Given the description of an element on the screen output the (x, y) to click on. 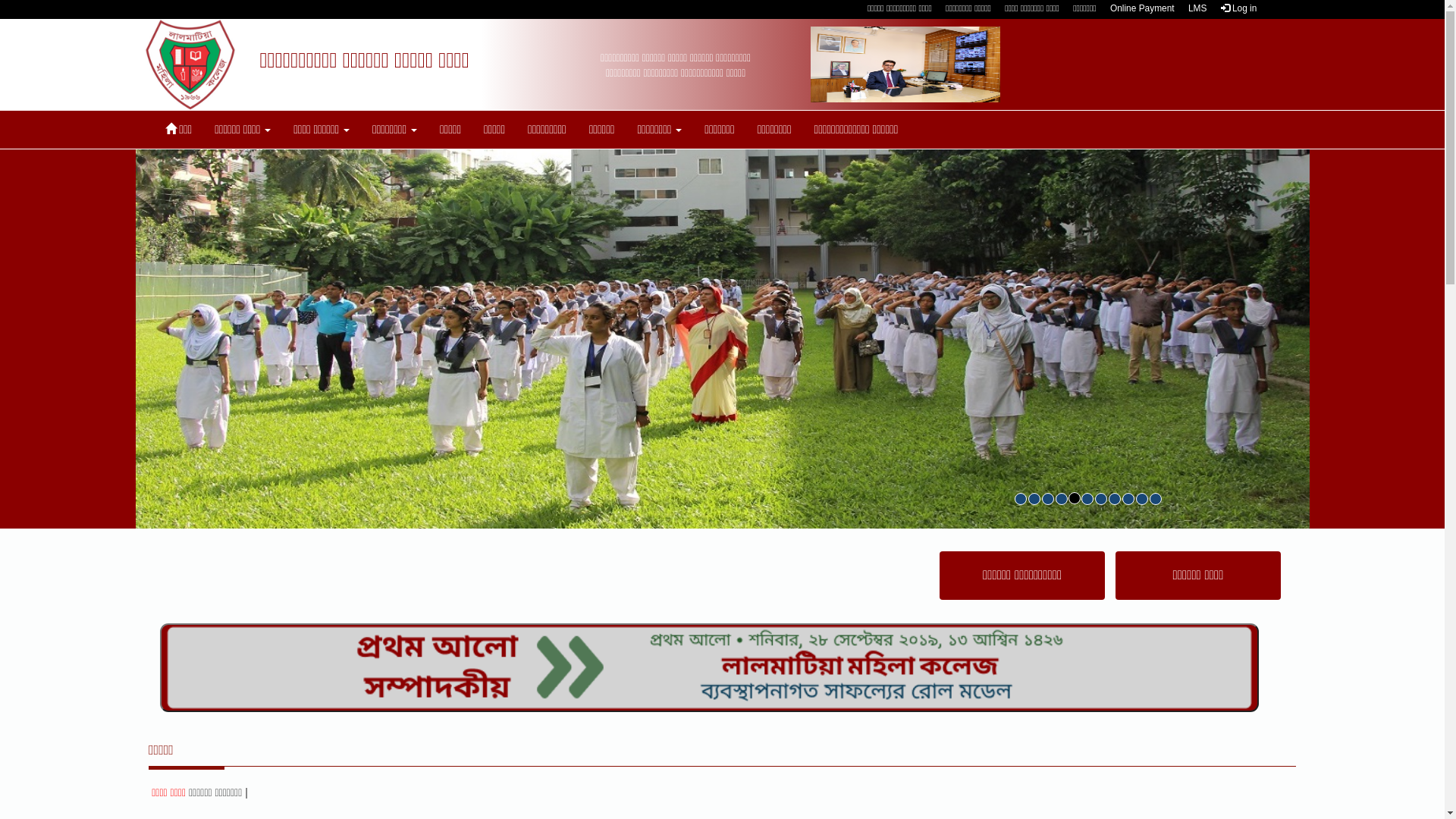
LMS Element type: text (1197, 8)
Log in Element type: text (1238, 8)
Online Payment Element type: text (1142, 8)
